Given the description of an element on the screen output the (x, y) to click on. 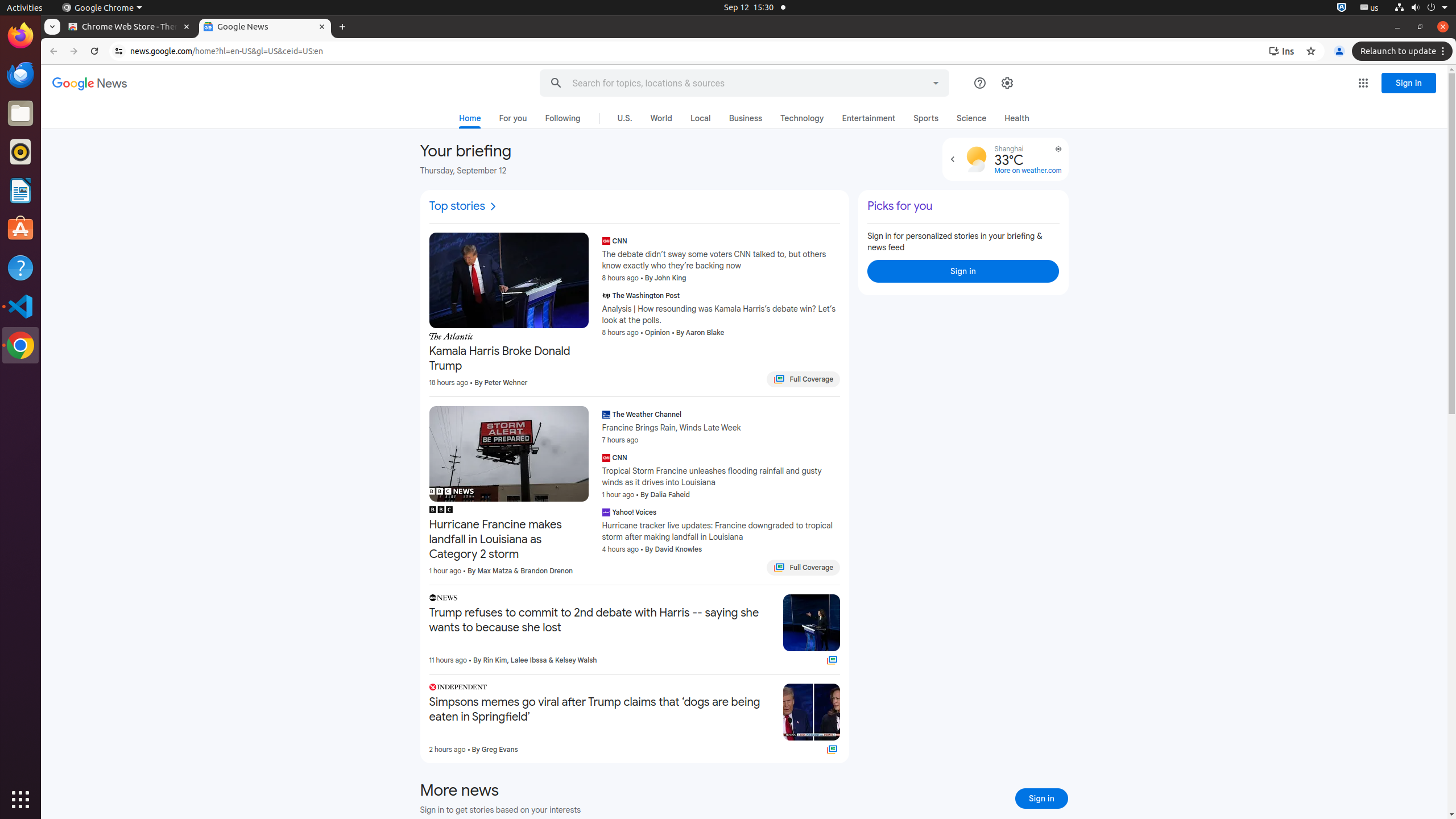
Search for topics, locations & sources Element type: combo-box (732, 82)
Back Element type: push-button (51, 50)
:1.72/StatusNotifierItem Element type: menu (1341, 7)
Help Element type: push-button (20, 267)
More - Hurricane tracker live updates: Francine downgraded to tropical storm after making landfall in Louisiana Element type: push-button (836, 513)
